Given the description of an element on the screen output the (x, y) to click on. 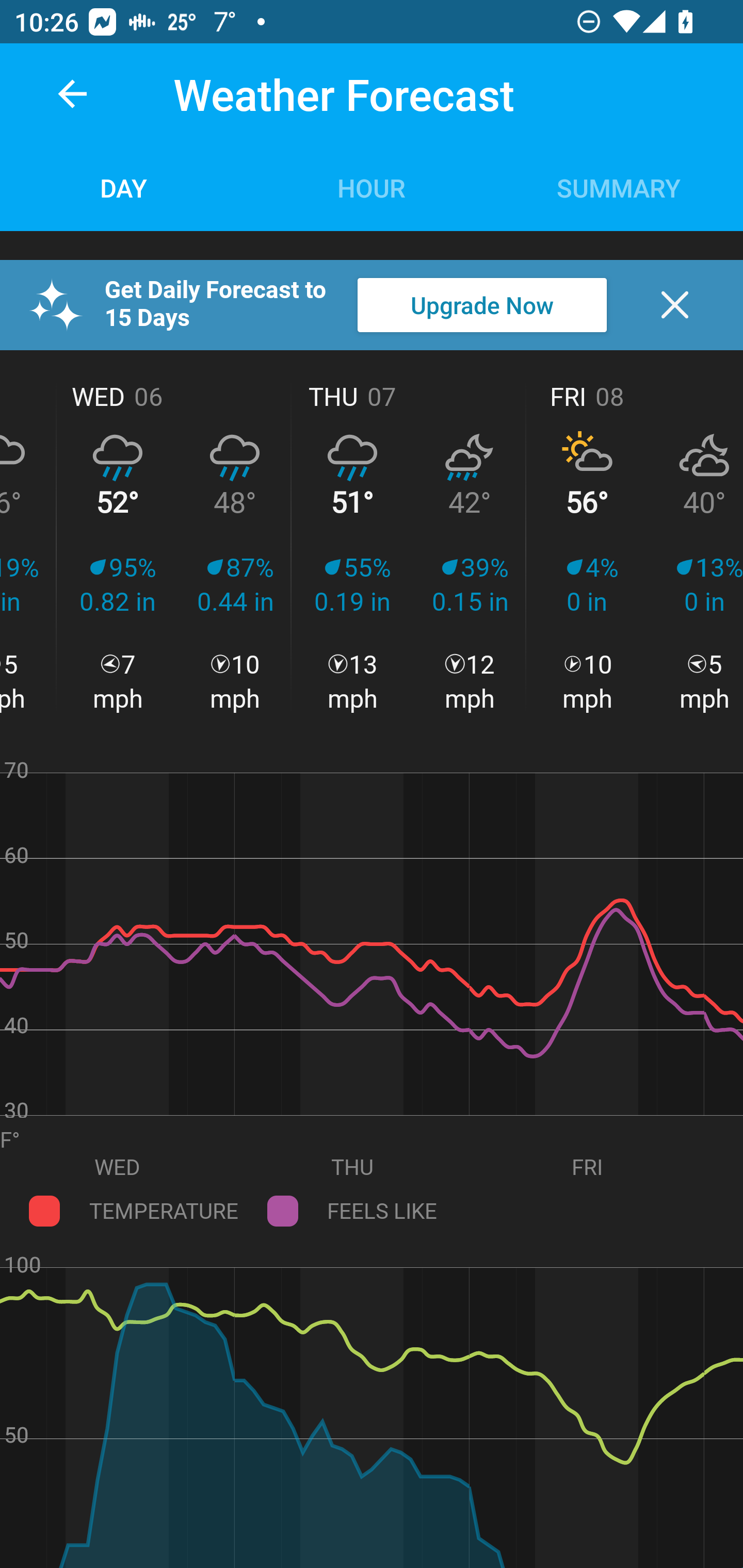
back (71, 93)
Hour Tab HOUR (371, 187)
Summary Tab SUMMARY (619, 187)
Upgrade Now (482, 304)
